Given the description of an element on the screen output the (x, y) to click on. 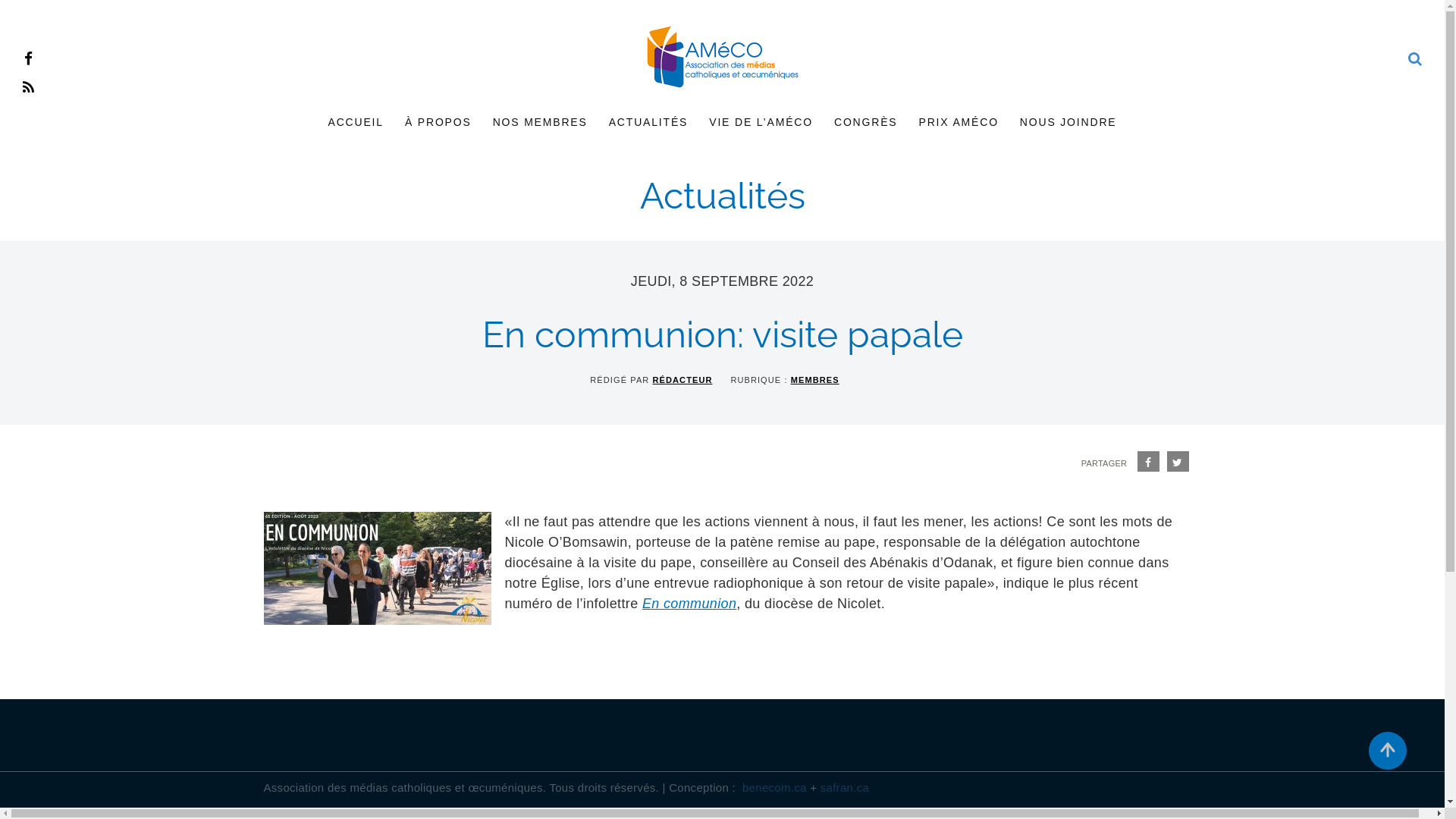
Prix Marie-Guyart Element type: text (853, 622)
MEMBRES Element type: text (814, 379)
NOUS JOINDRE Element type: text (1068, 122)
En communion Element type: text (689, 603)
NOS MEMBRES Element type: text (540, 122)
benecom.ca Element type: text (774, 788)
Accueil Element type: text (829, 448)
safran.ca Element type: text (844, 788)
M'inscrire Element type: text (1074, 535)
Nous joindre Element type: text (842, 577)
Prix Claude-Masson Element type: text (859, 600)
ACCUEIL Element type: text (354, 122)
